Given the description of an element on the screen output the (x, y) to click on. 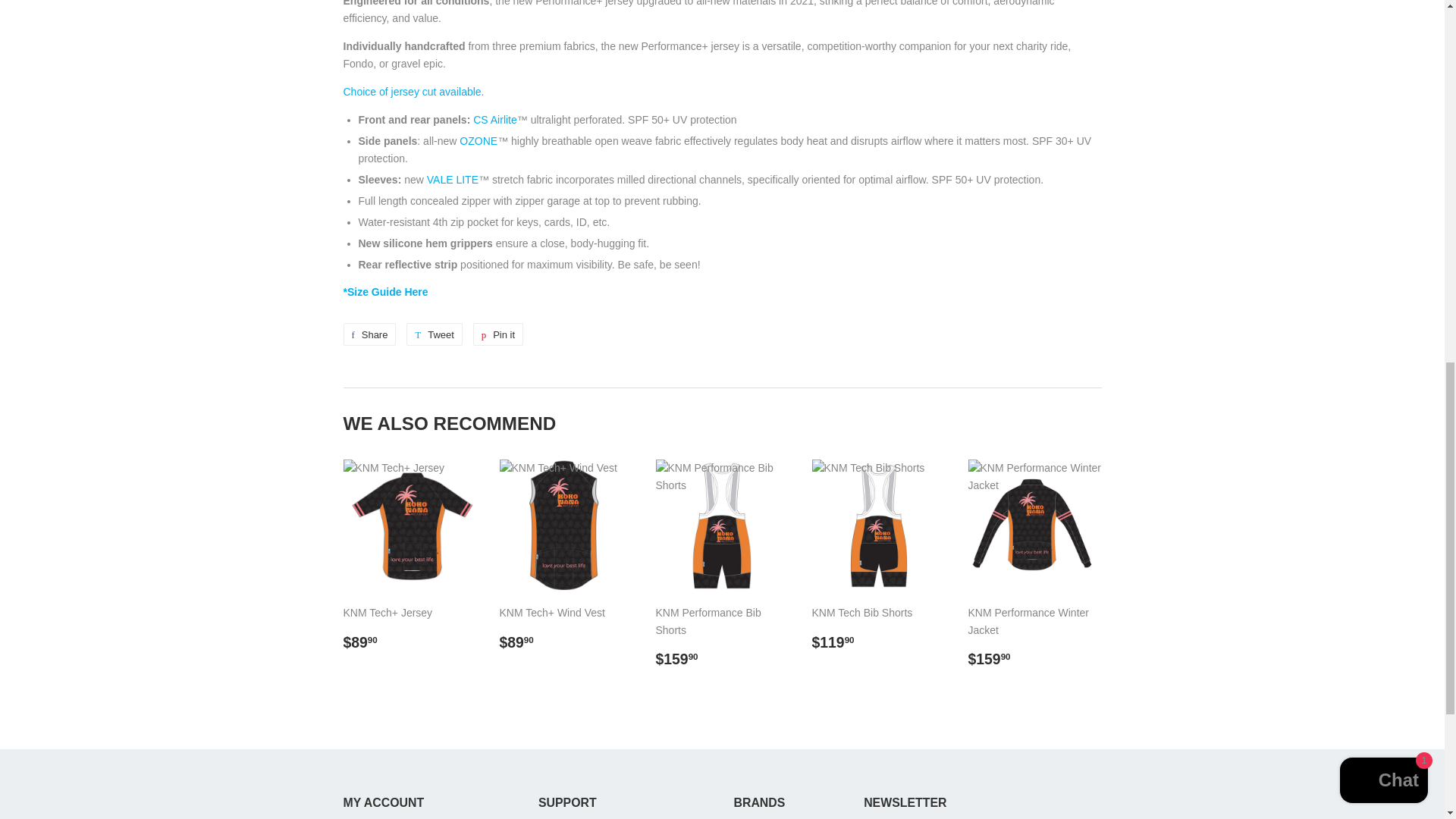
CS Airlite (494, 119)
OZONE (369, 333)
Choice of jersey cut available (478, 141)
Share on Facebook (411, 91)
size guide (434, 333)
Tweet on Twitter (369, 333)
VALE LITE (385, 291)
Pin on Pinterest (434, 333)
